Given the description of an element on the screen output the (x, y) to click on. 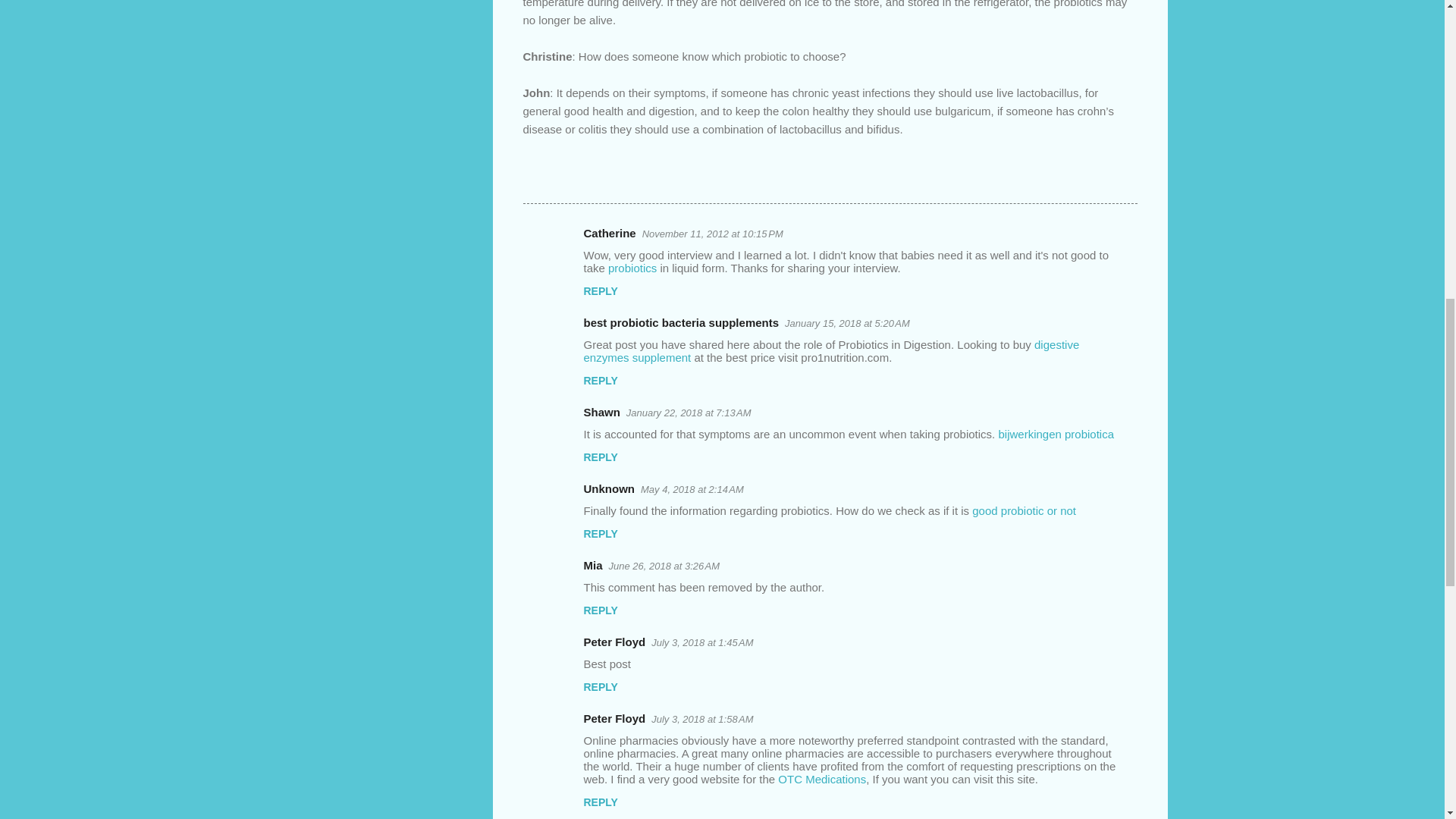
REPLY (600, 380)
good probiotic or not (1023, 510)
REPLY (600, 291)
Unknown (608, 488)
bijwerkingen probiotica (1055, 433)
REPLY (600, 533)
Catherine (609, 232)
